Given the description of an element on the screen output the (x, y) to click on. 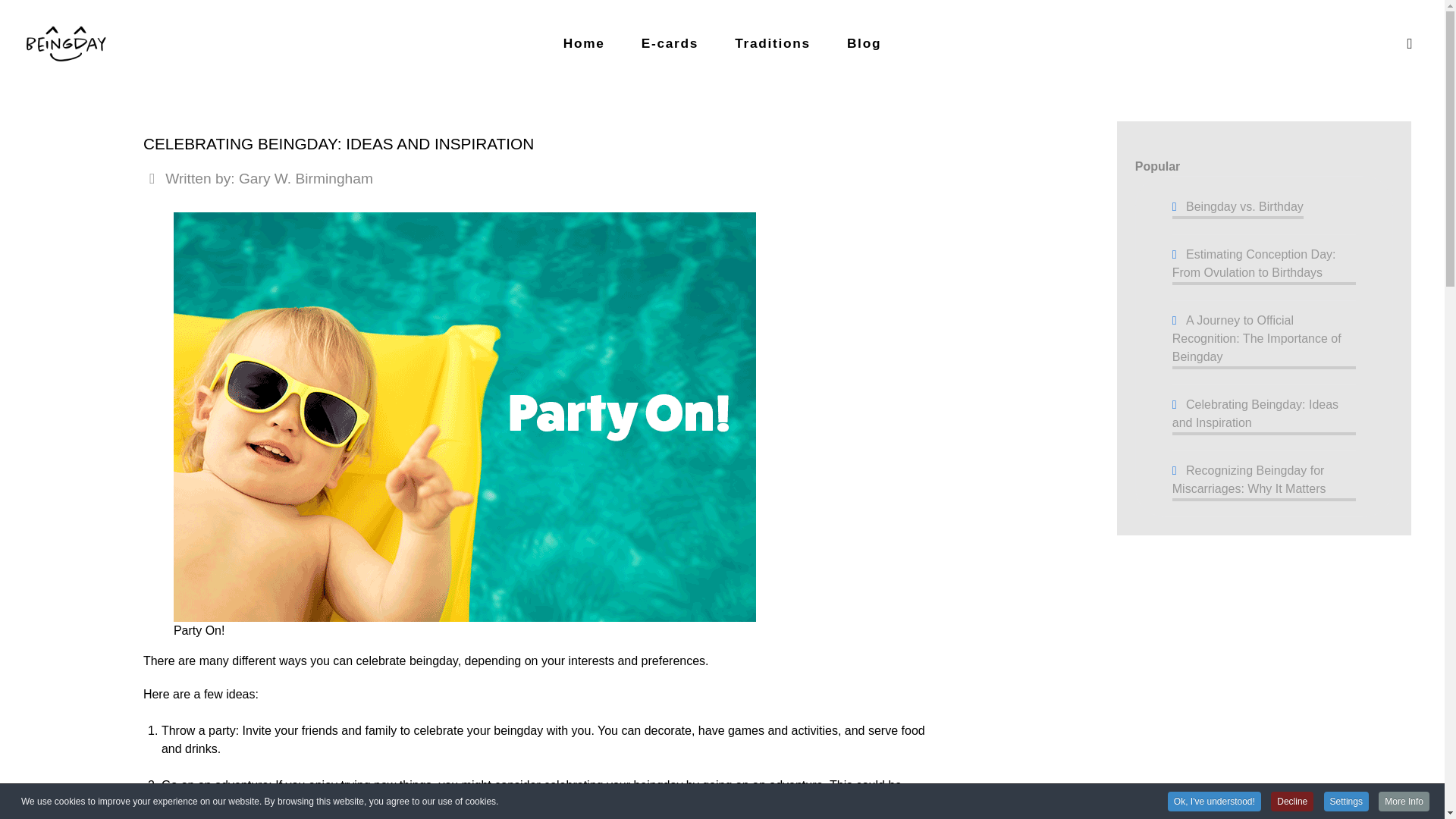
Estimating Conception Day: From Ovulation to Birthdays (1263, 263)
Blog (863, 42)
E-cards (669, 42)
Celebrating Beingday: Ideas and Inspiration (1263, 413)
Recognizing Beingday for Miscarriages: Why It Matters (1263, 479)
Home (583, 42)
Beingday vs. Birthday (1237, 207)
Beingday (67, 43)
Traditions (772, 42)
